Given the description of an element on the screen output the (x, y) to click on. 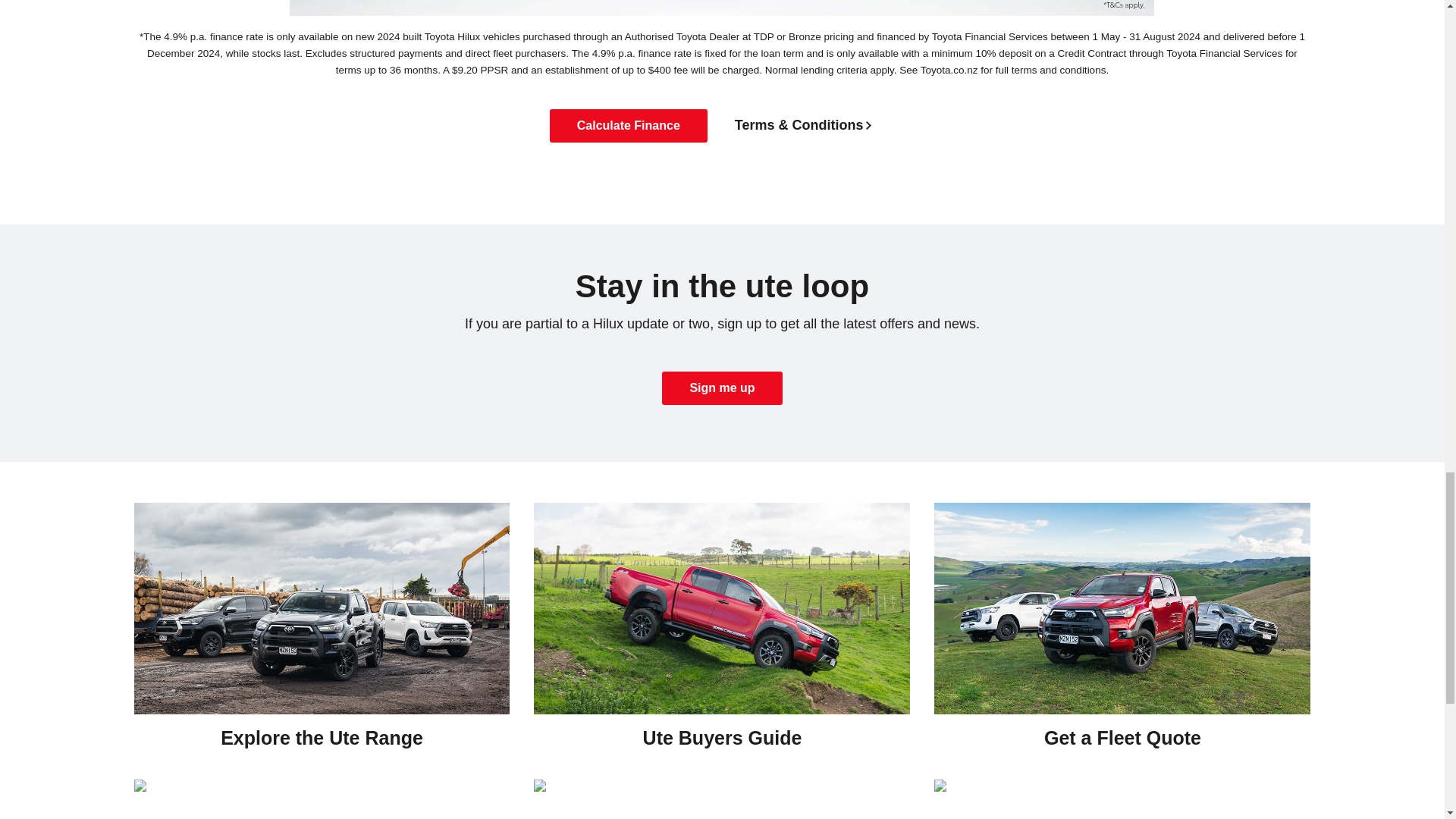
Calculate Finance (628, 125)
Get a Fleet Quote (1122, 640)
Sign me up (721, 387)
Ute Buyers Guide (722, 640)
Explore the Ute Range (321, 640)
